Given the description of an element on the screen output the (x, y) to click on. 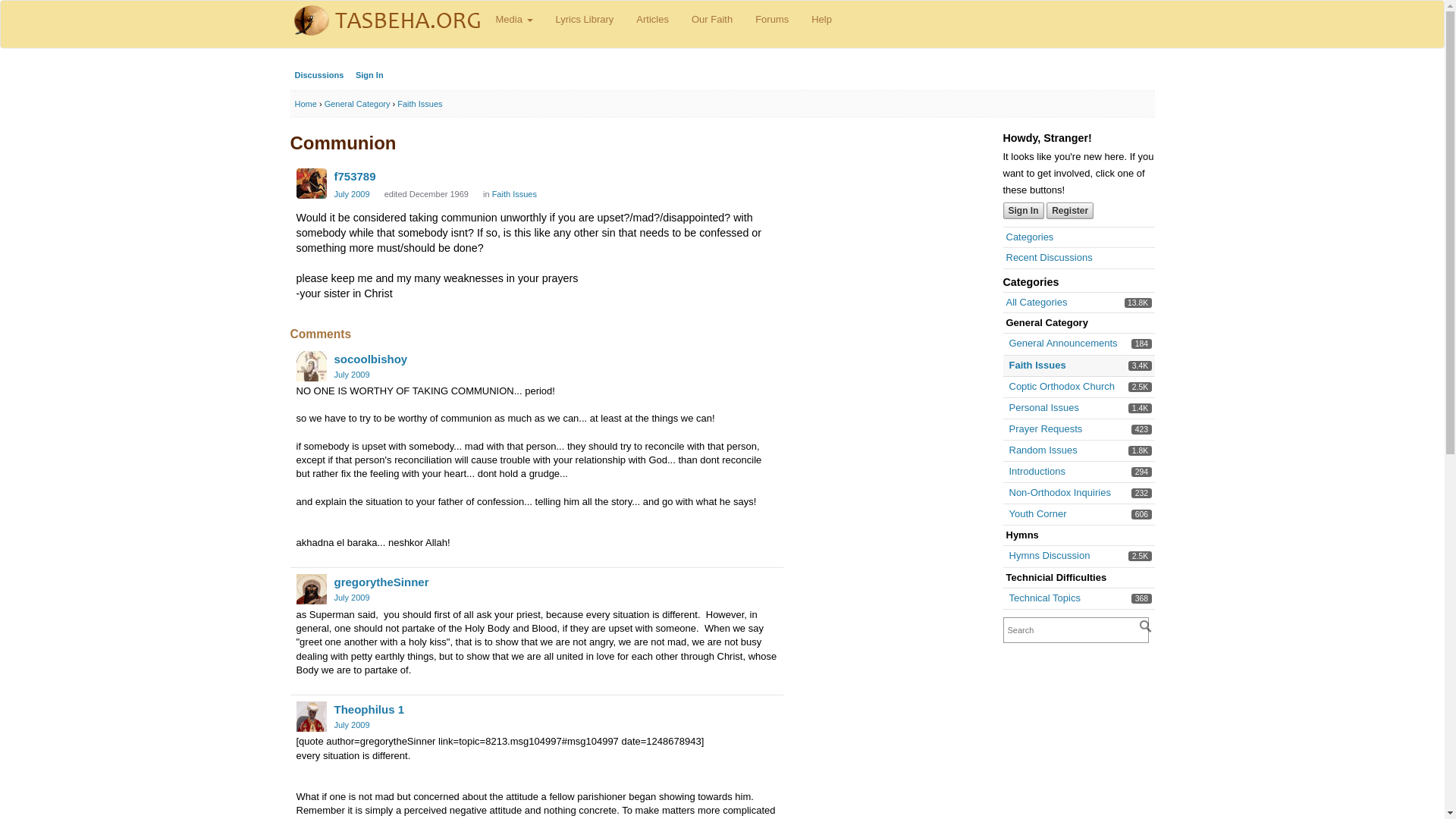
Edited by patman98 on December 31, 1969  7:00PM. (1036, 471)
3,403 discussions (1043, 449)
13,758 discussions (426, 194)
Forums (1140, 365)
2,545 discussions (1137, 302)
July 26, 2009  7:51PM (1049, 555)
Our Faith (771, 19)
2,496 discussions (1140, 556)
1,364 discussions (351, 194)
Sign In (711, 19)
606 discussions (1140, 387)
